Given the description of an element on the screen output the (x, y) to click on. 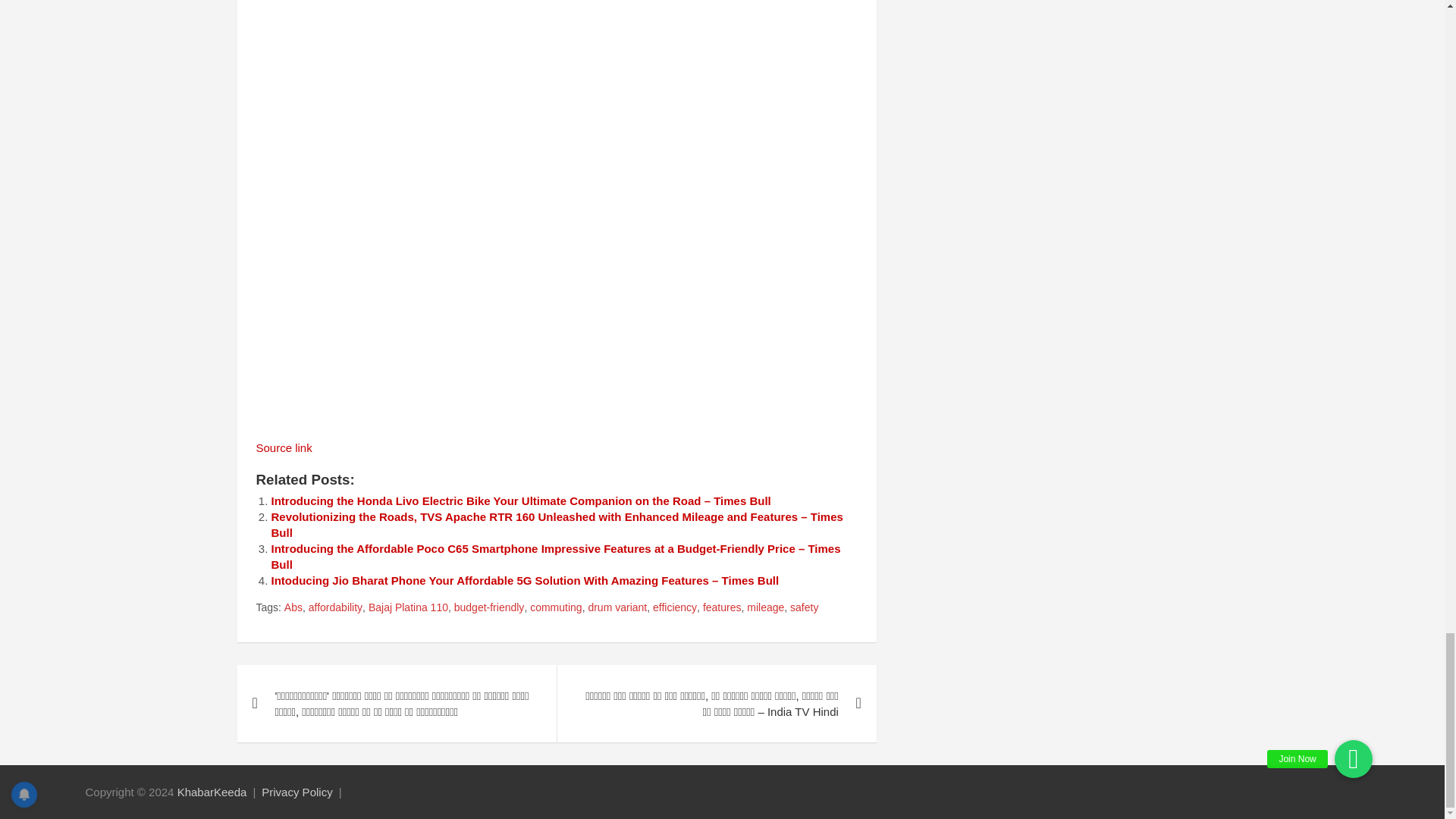
features (722, 607)
Source link (284, 447)
Advertisement (556, 314)
Bajaj Platina 110 (408, 607)
affordability (335, 607)
commuting (554, 607)
Abs (292, 607)
efficiency (674, 607)
drum variant (617, 607)
budget-friendly (489, 607)
